Given the description of an element on the screen output the (x, y) to click on. 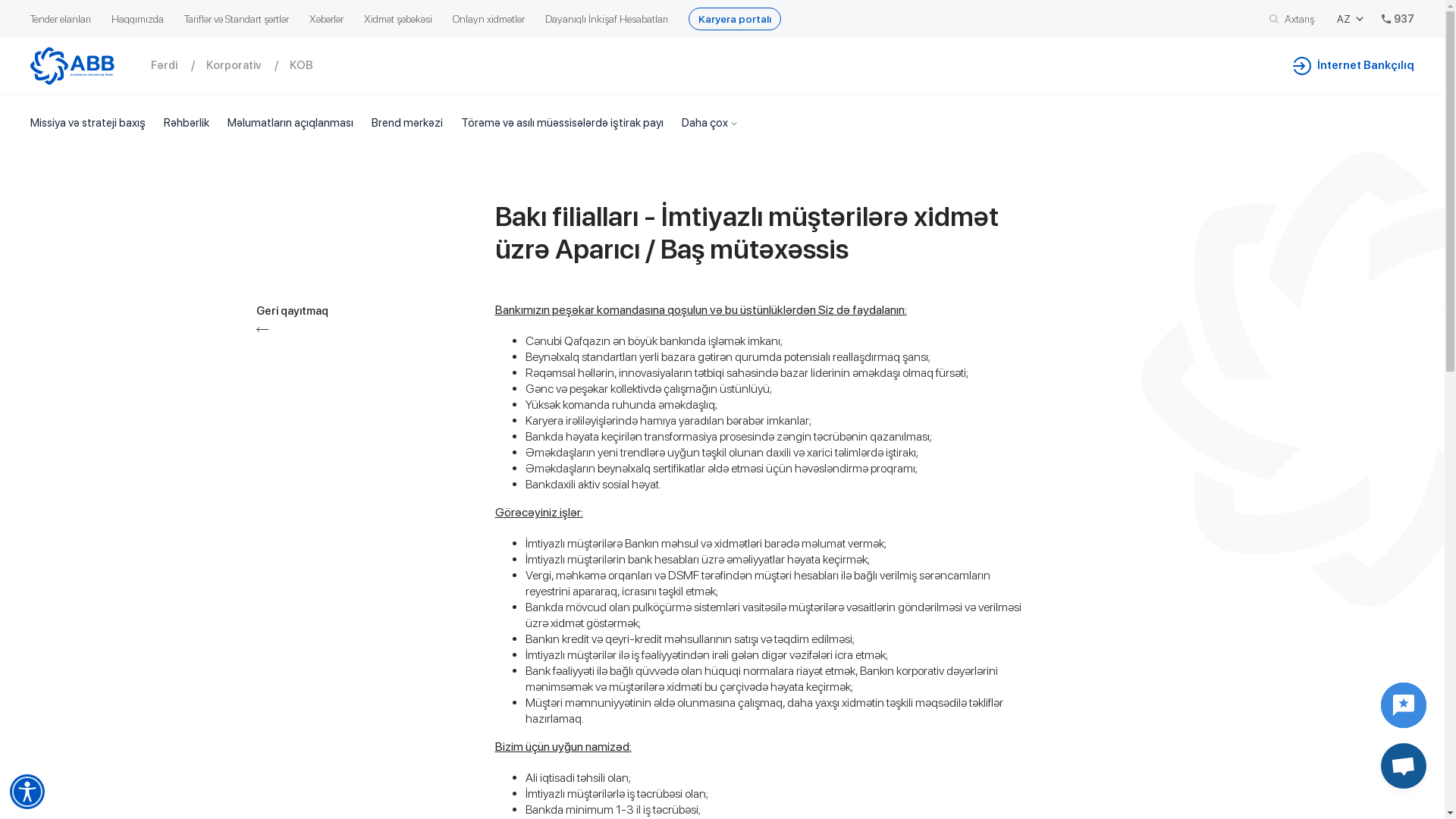
KOB Element type: text (312, 65)
937 Element type: text (1397, 18)
Korporativ Element type: text (247, 65)
